Given the description of an element on the screen output the (x, y) to click on. 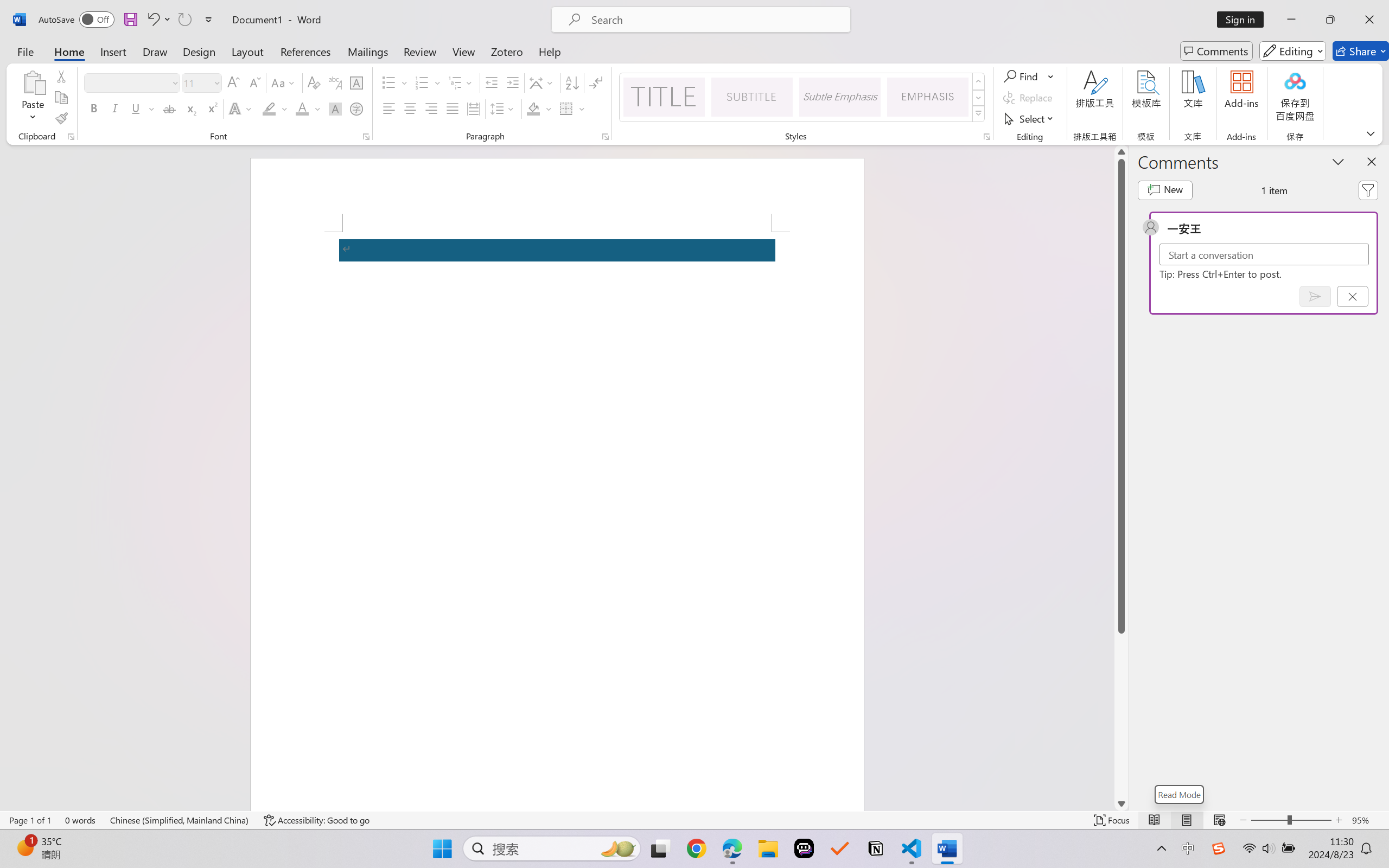
Font Color RGB(255, 0, 0) (302, 108)
Shading No Color (533, 108)
